Given the description of an element on the screen output the (x, y) to click on. 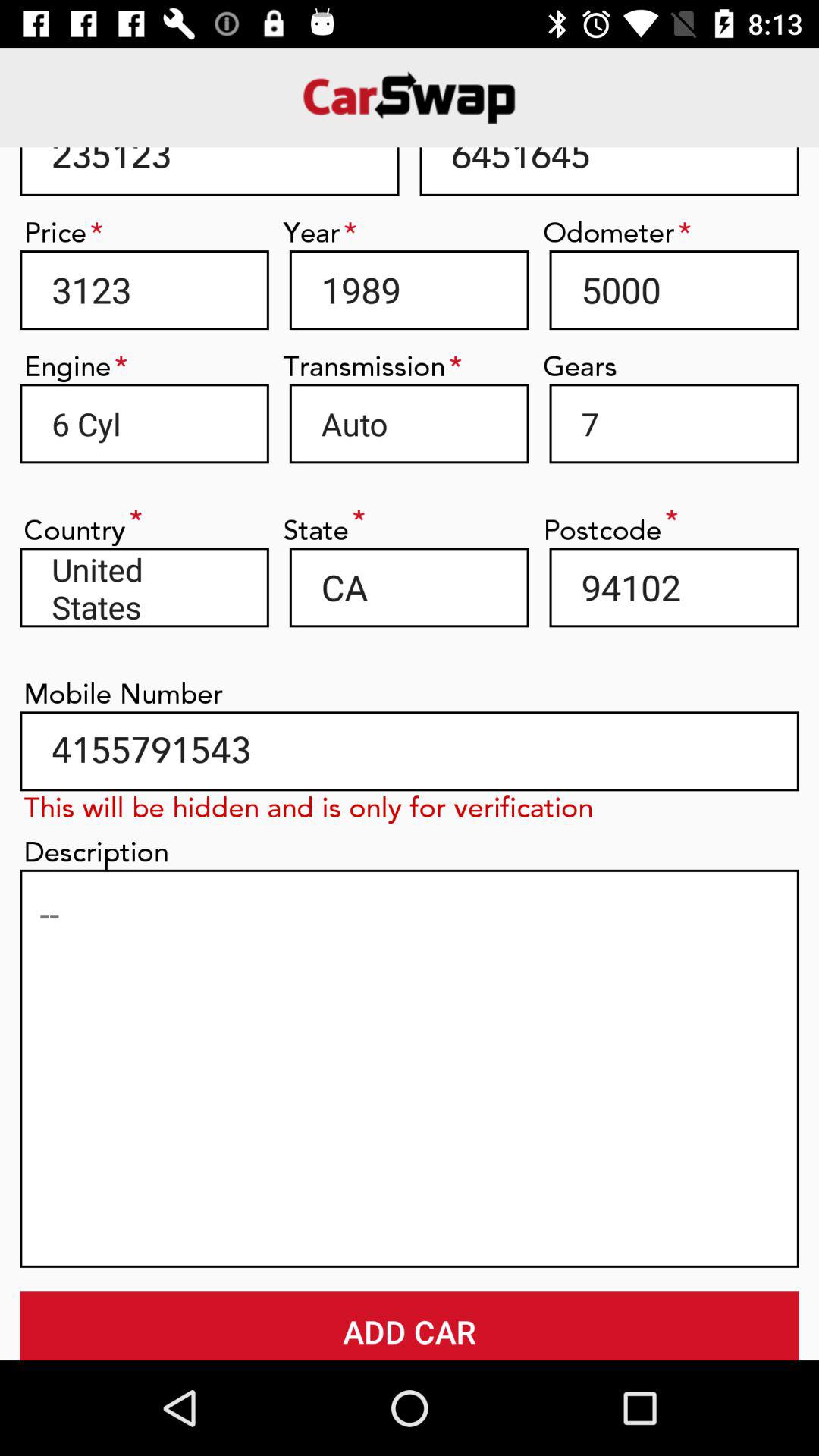
click the item next to the 6451645 (209, 171)
